Given the description of an element on the screen output the (x, y) to click on. 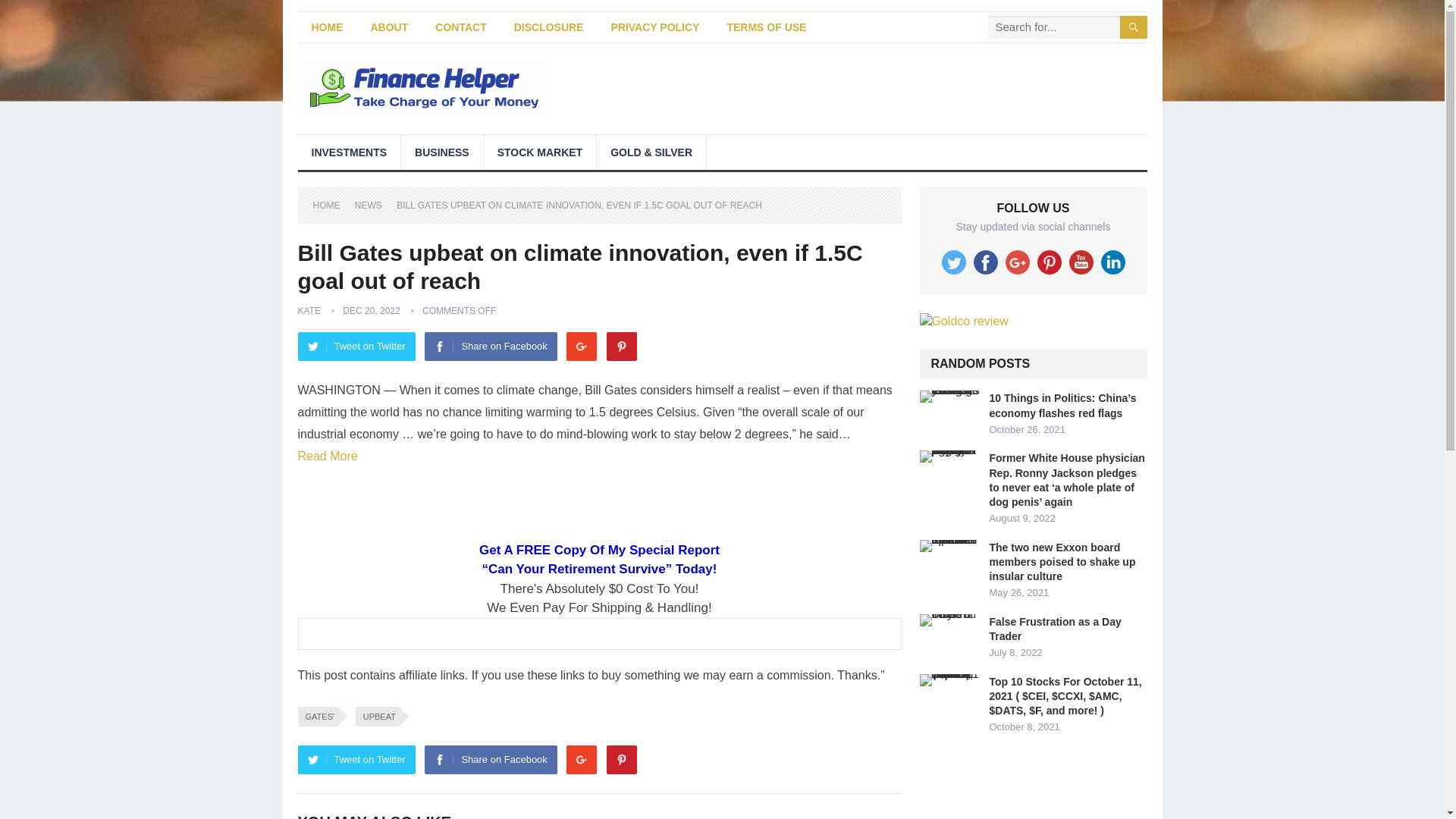
HOME (326, 27)
Posts by Kate (308, 310)
CONTACT (460, 27)
UPBEAT (376, 716)
NEWS (374, 204)
Tweet on Twitter (355, 346)
Pinterest (622, 346)
Pinterest (622, 759)
INVESTMENTS (348, 152)
View all posts in News (374, 204)
BUSINESS (442, 152)
STOCK MARKET (539, 152)
TERMS OF USE (766, 27)
Tweet on Twitter (355, 759)
Share on Facebook (490, 346)
